Given the description of an element on the screen output the (x, y) to click on. 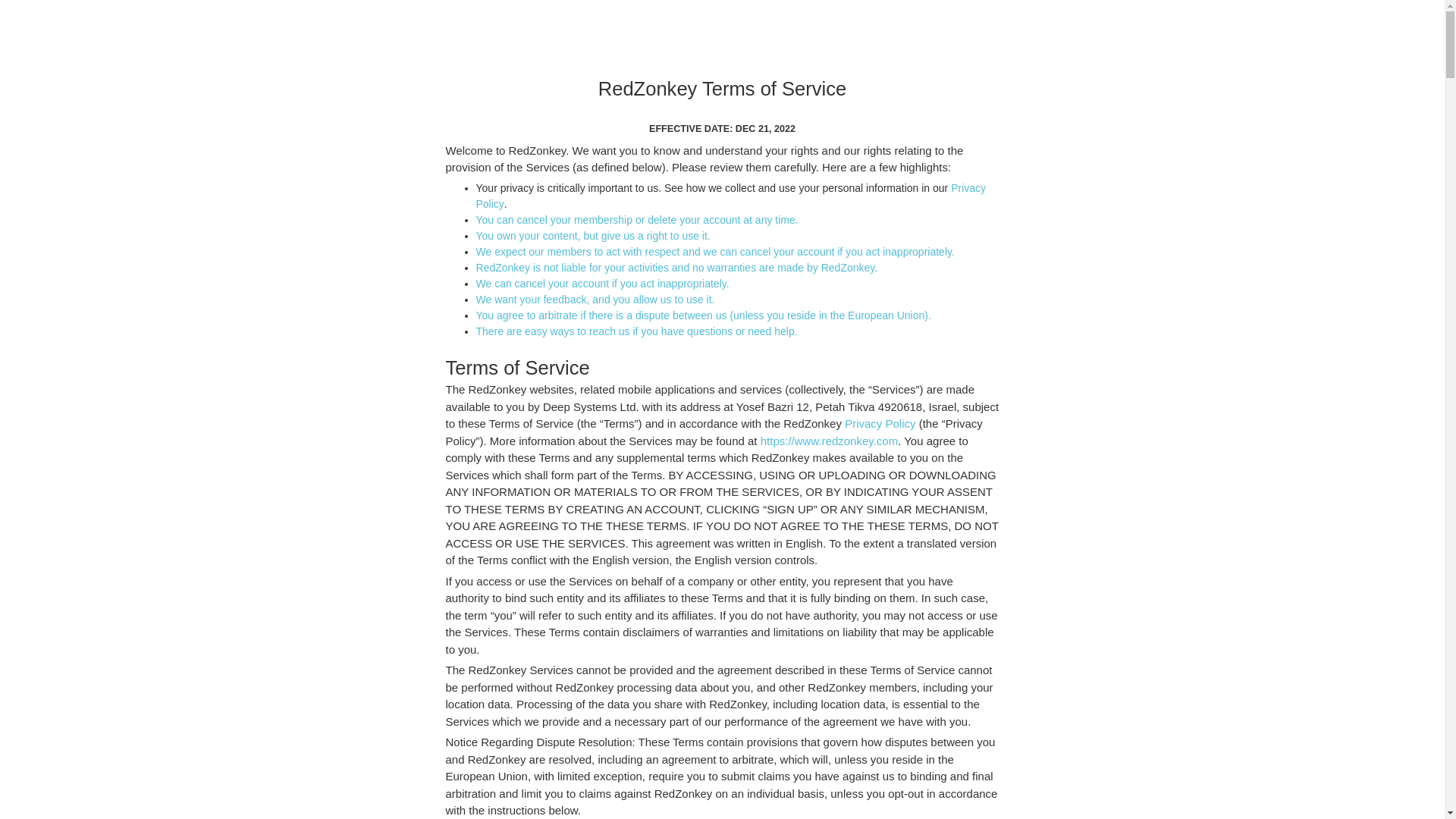
You own your content, but give us a right to use it. (593, 235)
We want your feedback, and you allow us to use it. (595, 299)
Privacy Policy (731, 195)
We can cancel your account if you act inappropriately. (602, 283)
Privacy Policy (879, 422)
